Given the description of an element on the screen output the (x, y) to click on. 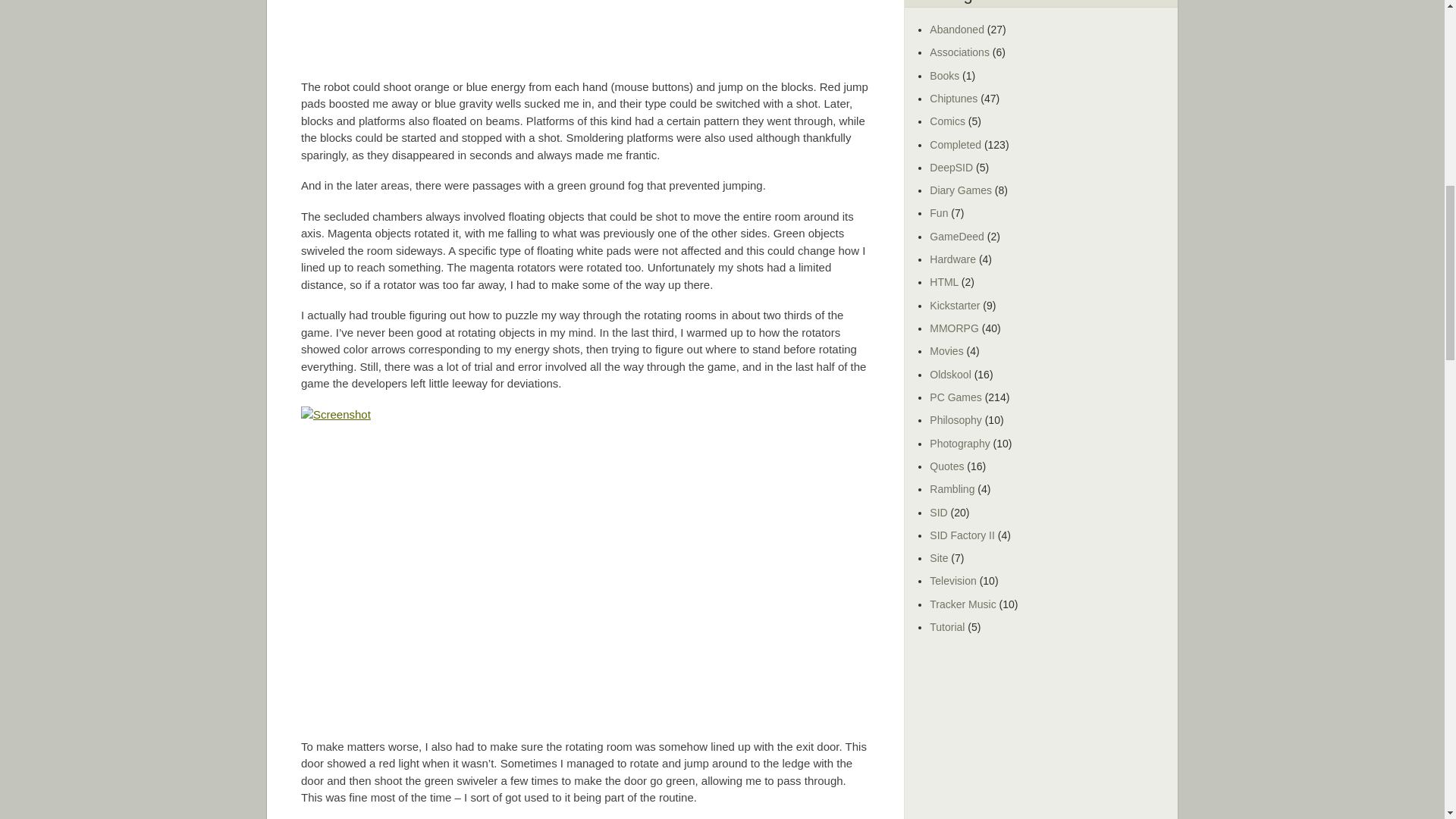
Associations (960, 51)
Chiptunes (953, 98)
Comics (947, 121)
Abandoned (957, 29)
Books (944, 75)
